Given the description of an element on the screen output the (x, y) to click on. 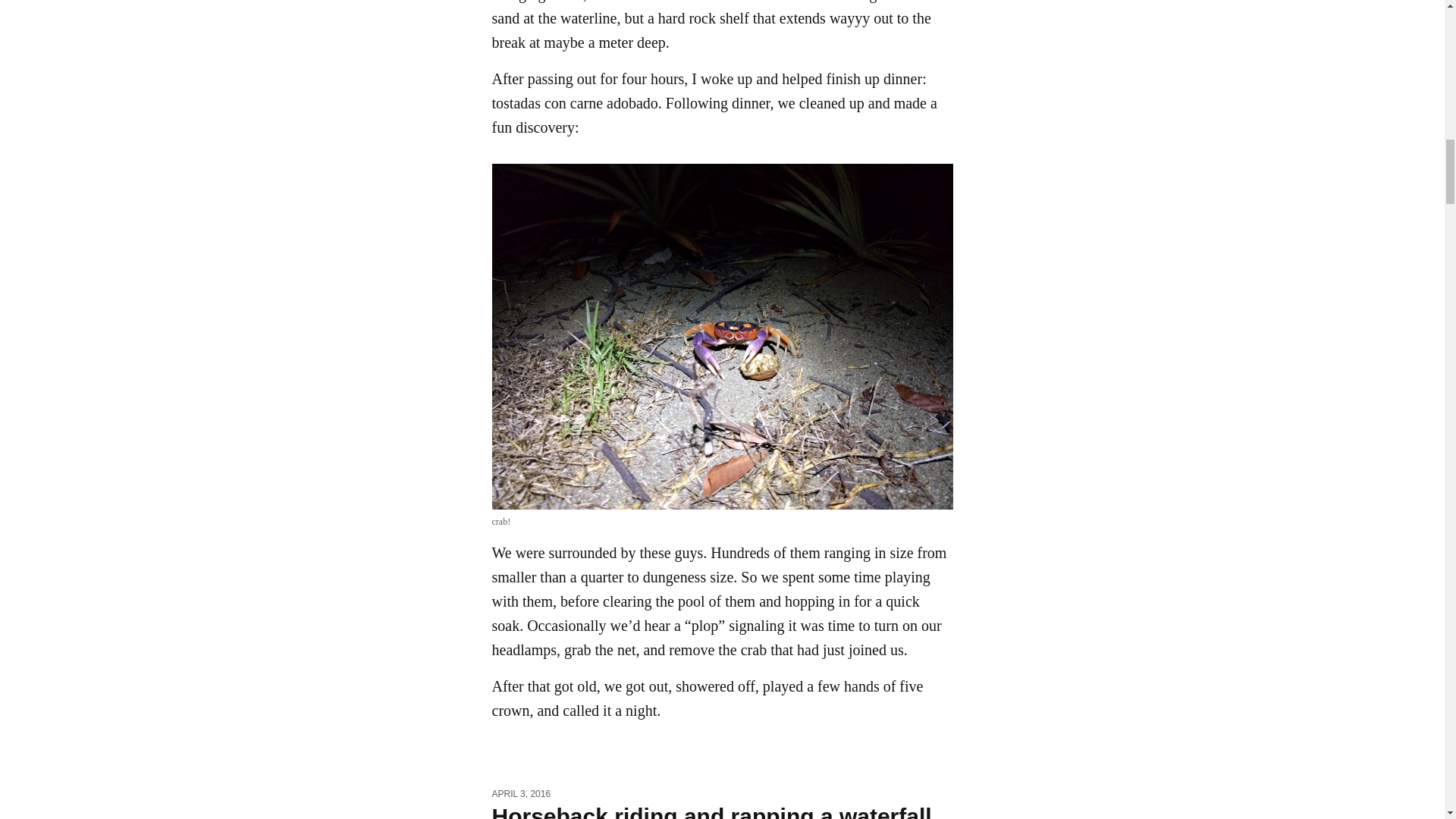
Horseback riding and rapping a waterfall (711, 811)
